Given the description of an element on the screen output the (x, y) to click on. 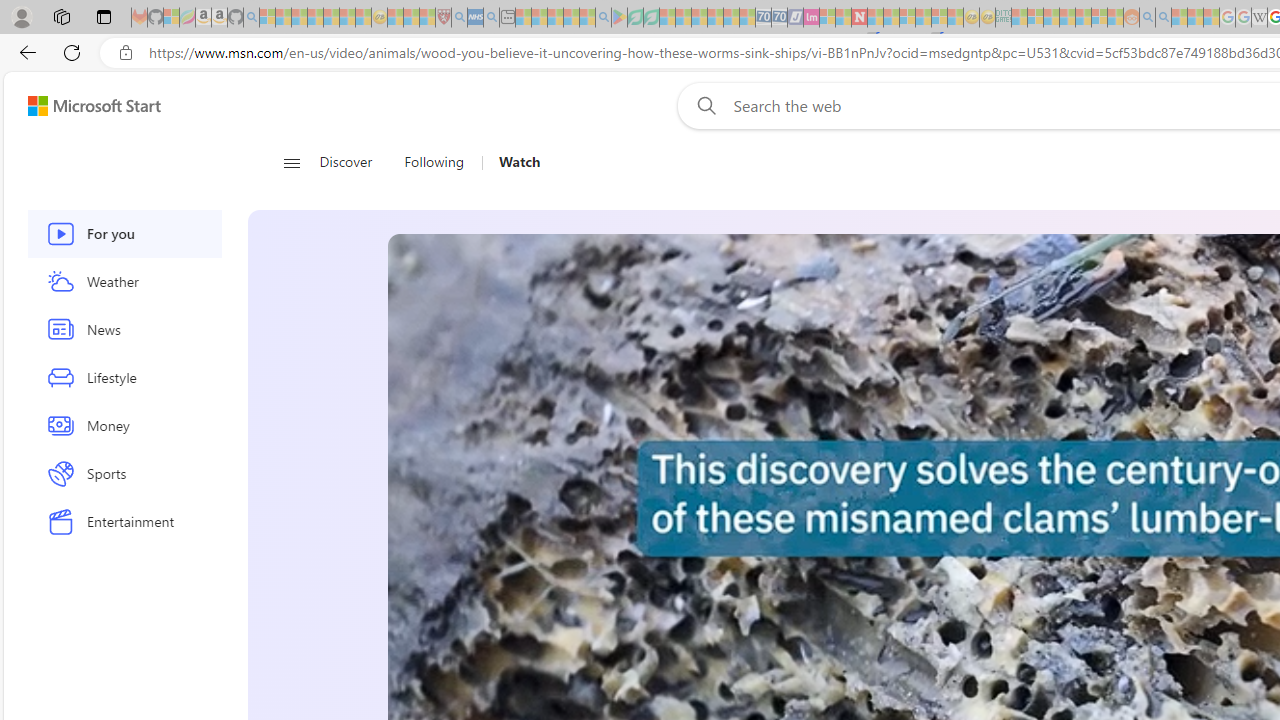
Recipes - MSN - Sleeping (395, 17)
Watch (519, 162)
New tab - Sleeping (507, 17)
Robert H. Shmerling, MD - Harvard Health - Sleeping (443, 17)
Expert Portfolios - Sleeping (1067, 17)
Bluey: Let's Play! - Apps on Google Play - Sleeping (619, 17)
